Given the description of an element on the screen output the (x, y) to click on. 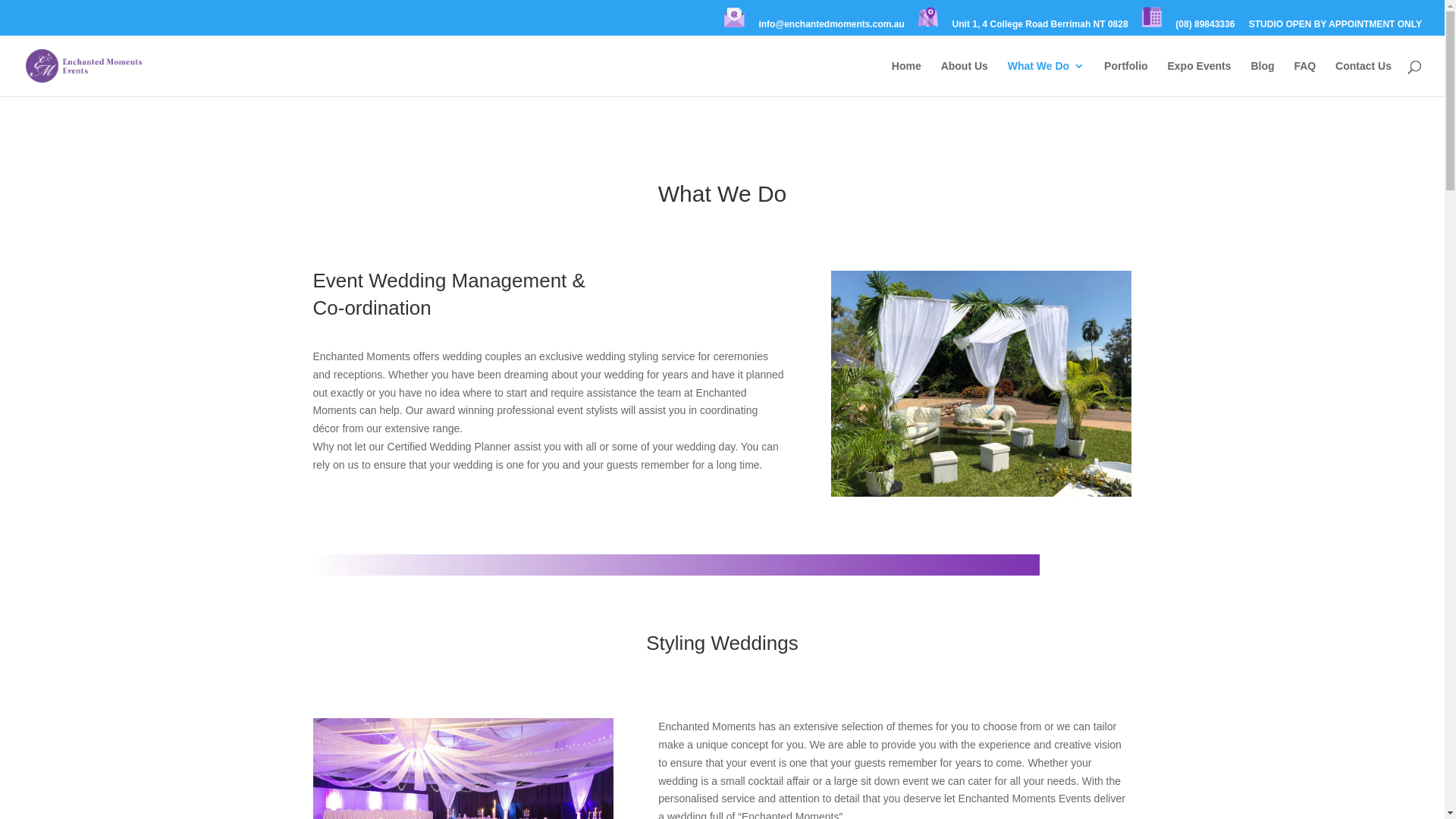
Blog Element type: text (1262, 78)
Contact Us Element type: text (1363, 78)
info@enchantedmoments.com.au Element type: text (830, 27)
Portfolio Element type: text (1126, 78)
What We Do Element type: text (1045, 78)
Unit 1, 4 College Road Berrimah NT 0828 Element type: text (1040, 27)
Home Element type: text (906, 78)
(08) 89843336 Element type: text (1204, 27)
STUDIO OPEN BY APPOINTMENT ONLY Element type: text (1334, 27)
About Us Element type: text (964, 78)
Expo Events Element type: text (1199, 78)
FAQ Element type: text (1304, 78)
